Given the description of an element on the screen output the (x, y) to click on. 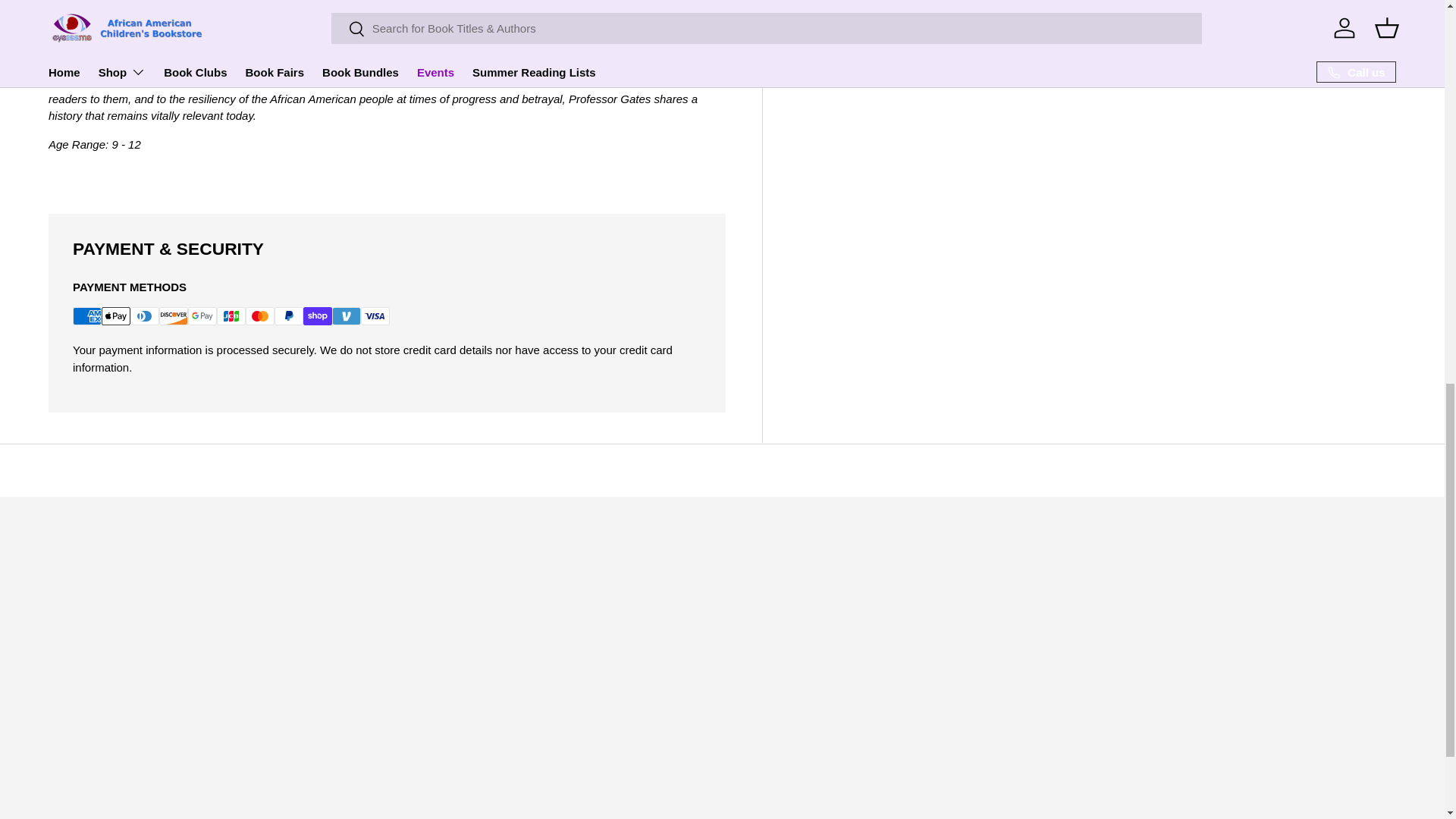
American Express (86, 316)
Apple Pay (116, 316)
Discover (172, 316)
Diners Club (144, 316)
PayPal (288, 316)
Mastercard (260, 316)
JCB (231, 316)
Google Pay (201, 316)
